Given the description of an element on the screen output the (x, y) to click on. 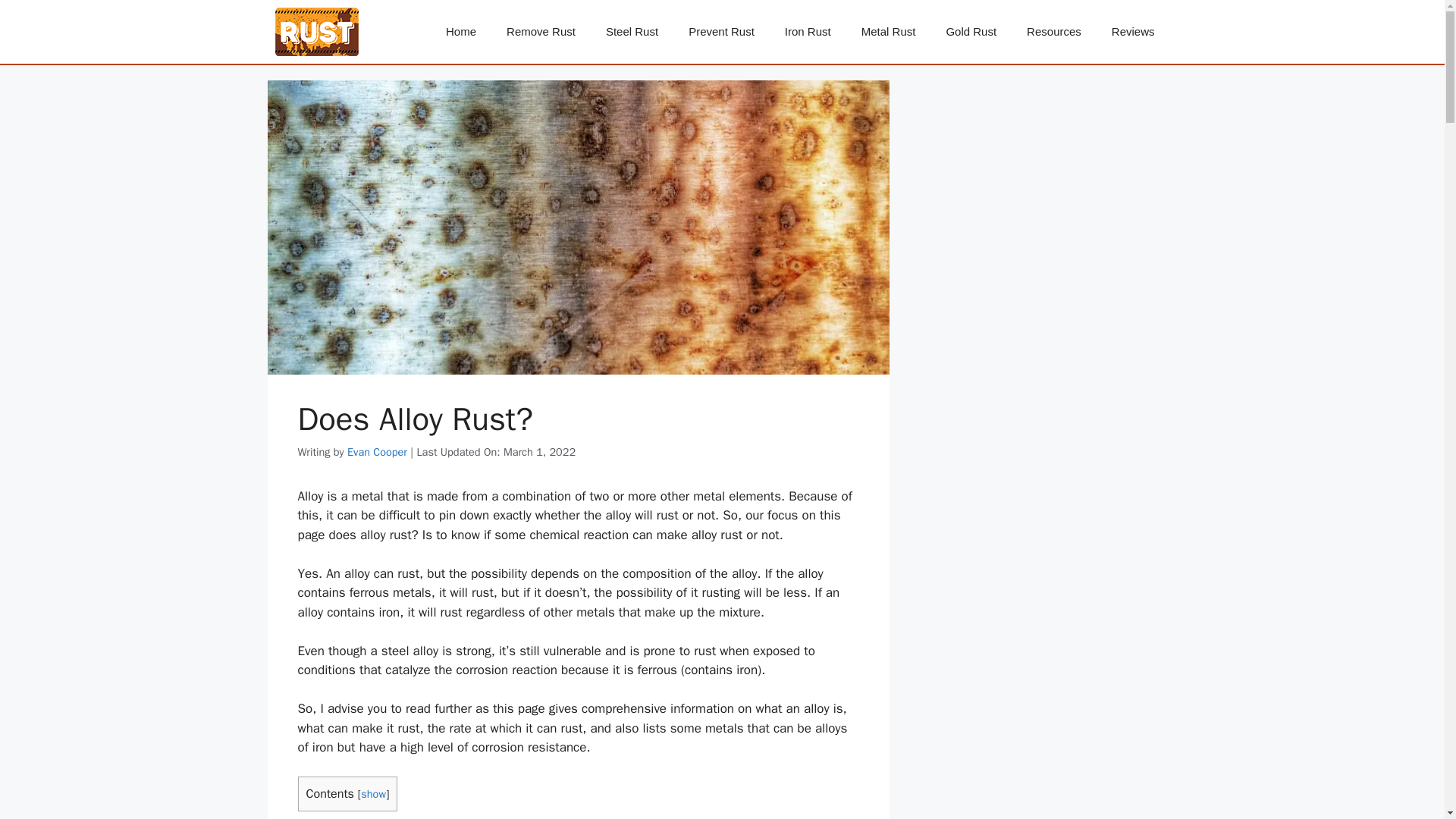
Iron Rust (807, 31)
Doesit Rust (316, 30)
Home (461, 31)
Steel Rust (631, 31)
Reviews (1133, 31)
Evan Cooper (377, 451)
Gold Rust (970, 31)
Metal Rust (888, 31)
View all posts by Evan Cooper (377, 451)
Doesit Rust (316, 31)
